Given the description of an element on the screen output the (x, y) to click on. 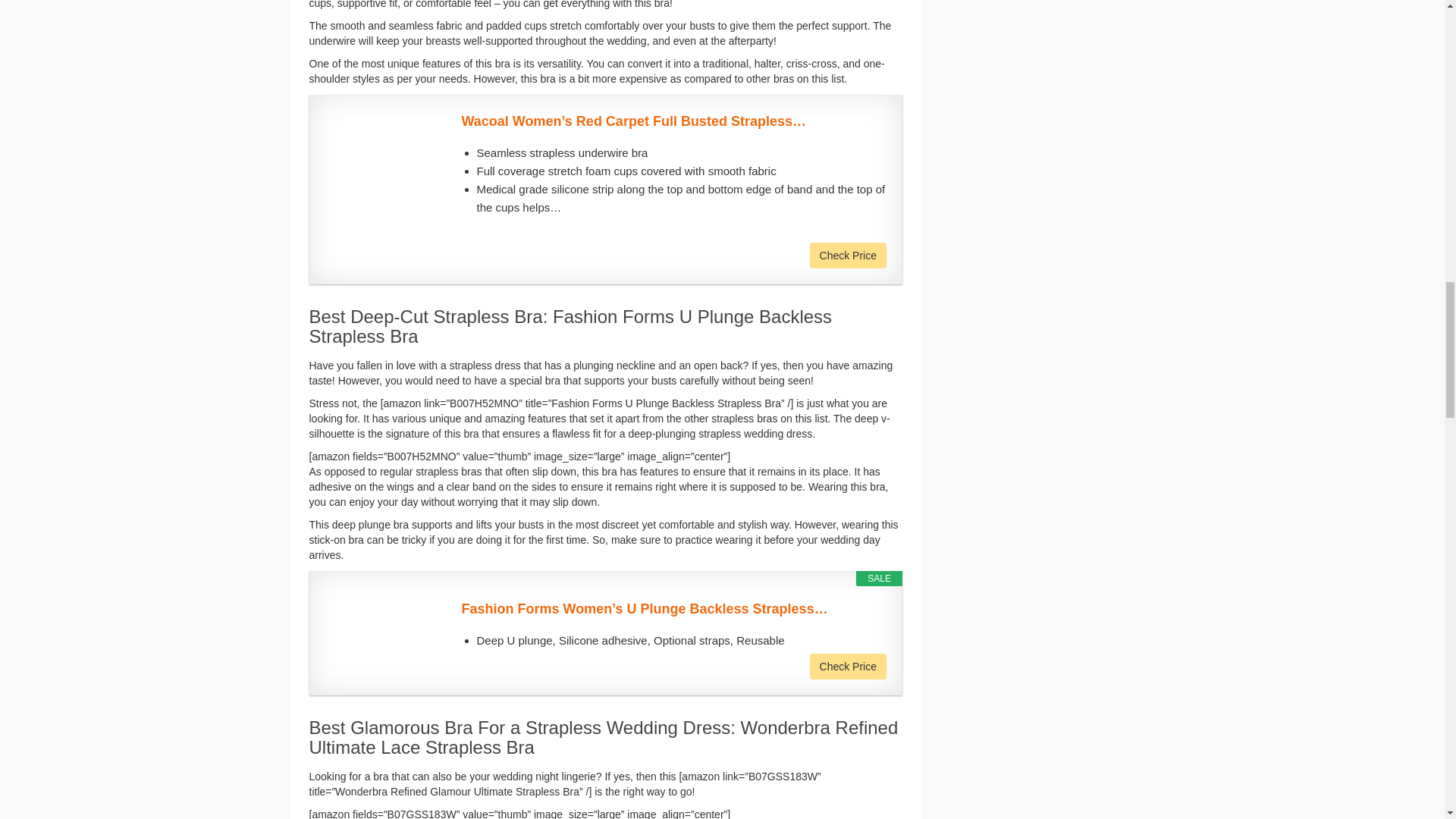
Check Price (847, 255)
Check Price (847, 666)
Fashion Forms Women's U Plunge Backless Strapless... (673, 608)
Check Price (847, 255)
Wacoal Women's Red Carpet Full Busted Strapless... (673, 121)
Check Price (847, 666)
